Given the description of an element on the screen output the (x, y) to click on. 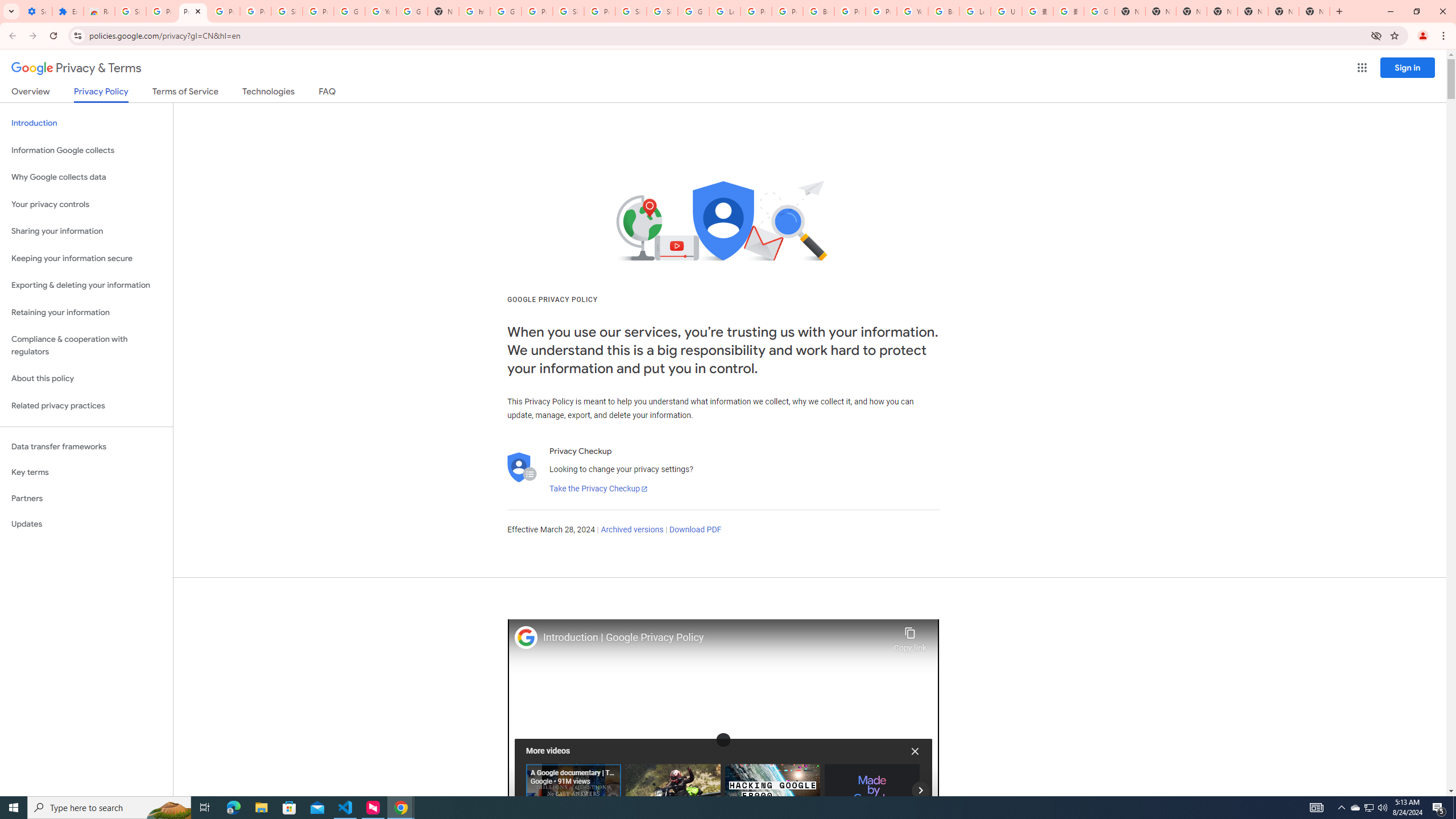
YouTube (380, 11)
Related privacy practices (86, 405)
Settings - On startup (36, 11)
https://scholar.google.com/ (474, 11)
Sign in - Google Accounts (568, 11)
YouTube (912, 11)
Show more suggested videos (920, 789)
